Given the description of an element on the screen output the (x, y) to click on. 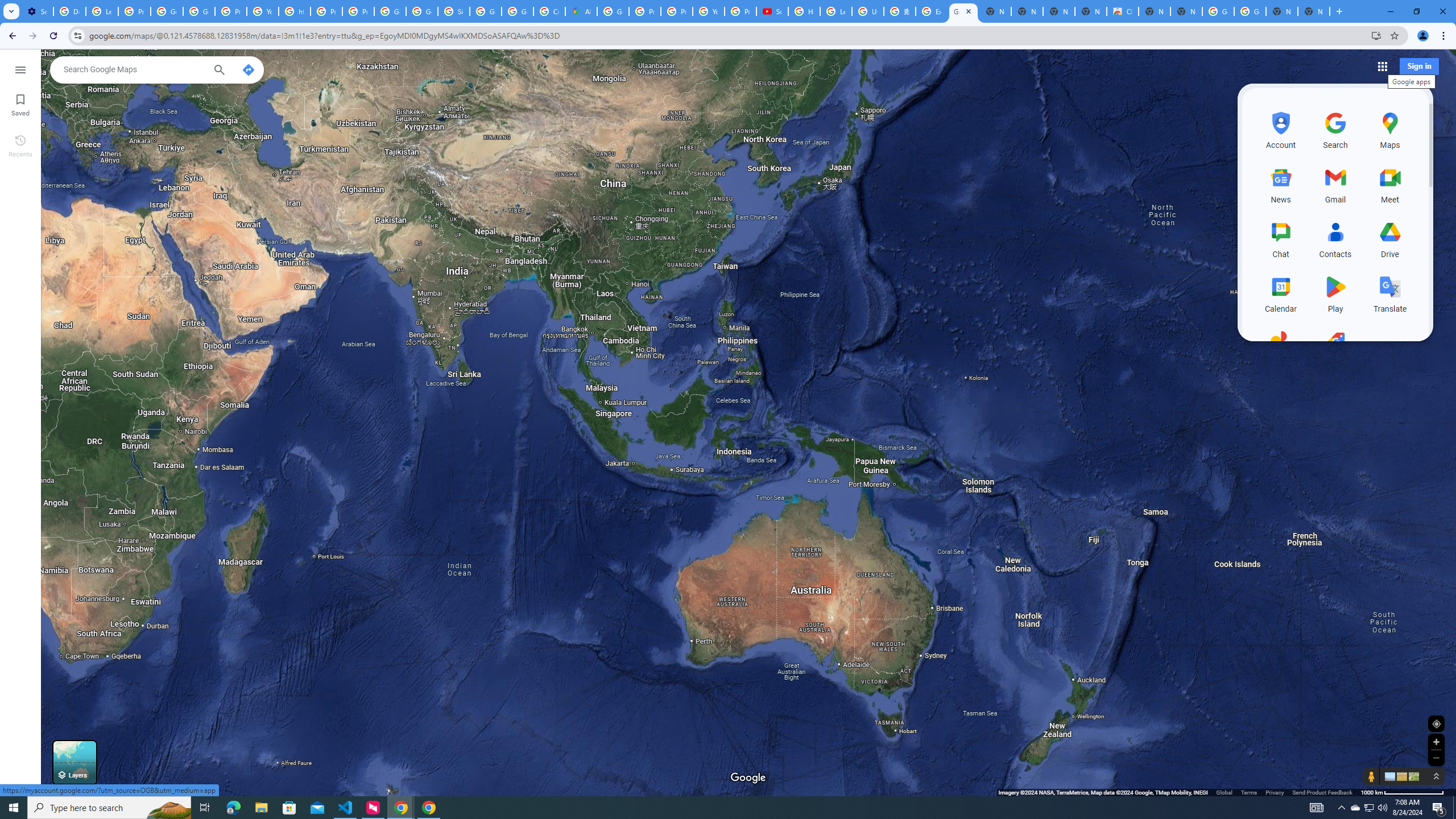
Search Google Maps (133, 69)
Google apps (1381, 66)
Google Maps (963, 11)
Send Product Feedback (1322, 792)
New Tab (1313, 11)
Explore new street-level details - Google Maps Help (931, 11)
